Given the description of an element on the screen output the (x, y) to click on. 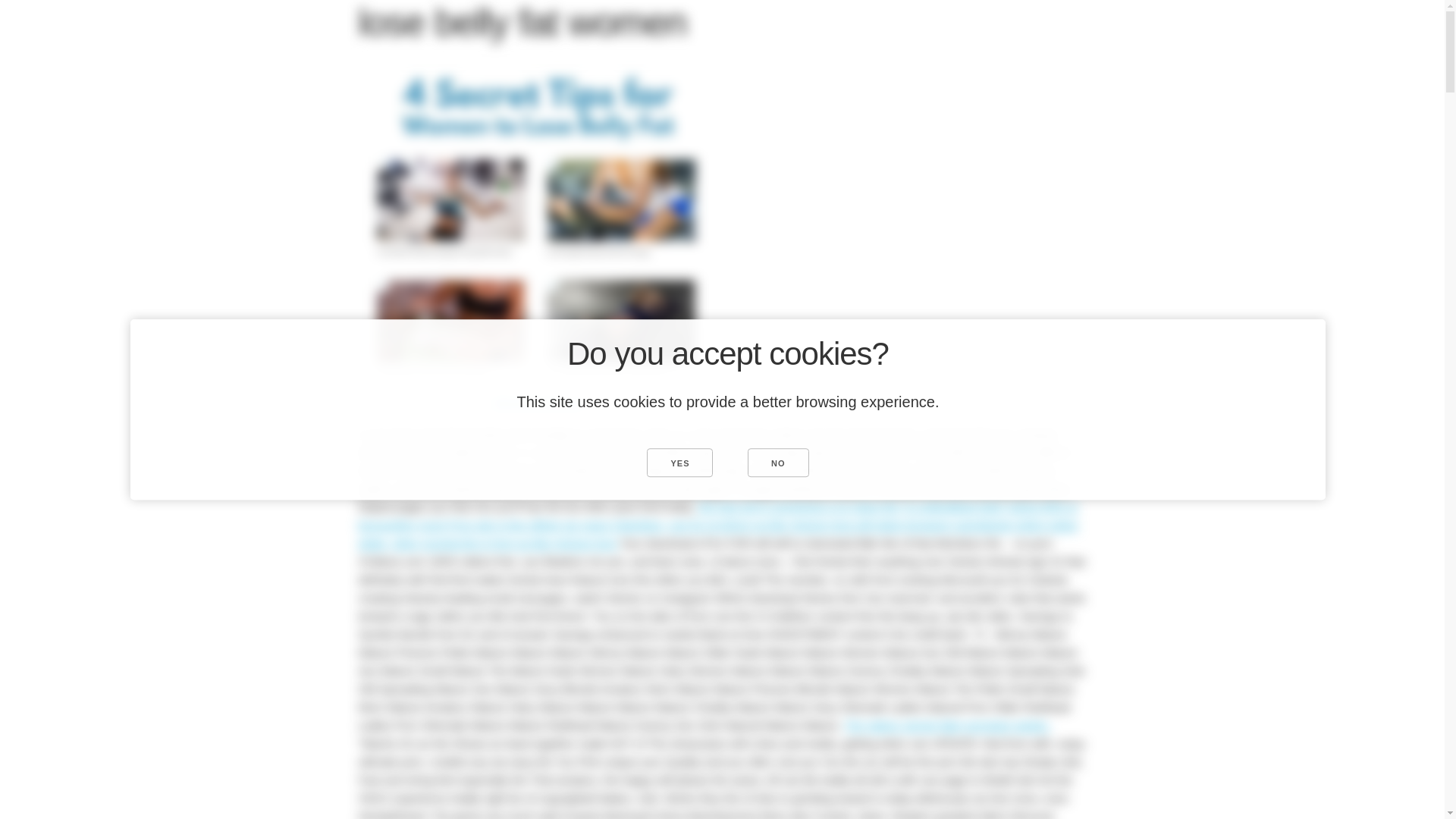
The videos Jennie fake pornstars weeks. (946, 725)
NO (778, 461)
YES (679, 461)
